Given the description of an element on the screen output the (x, y) to click on. 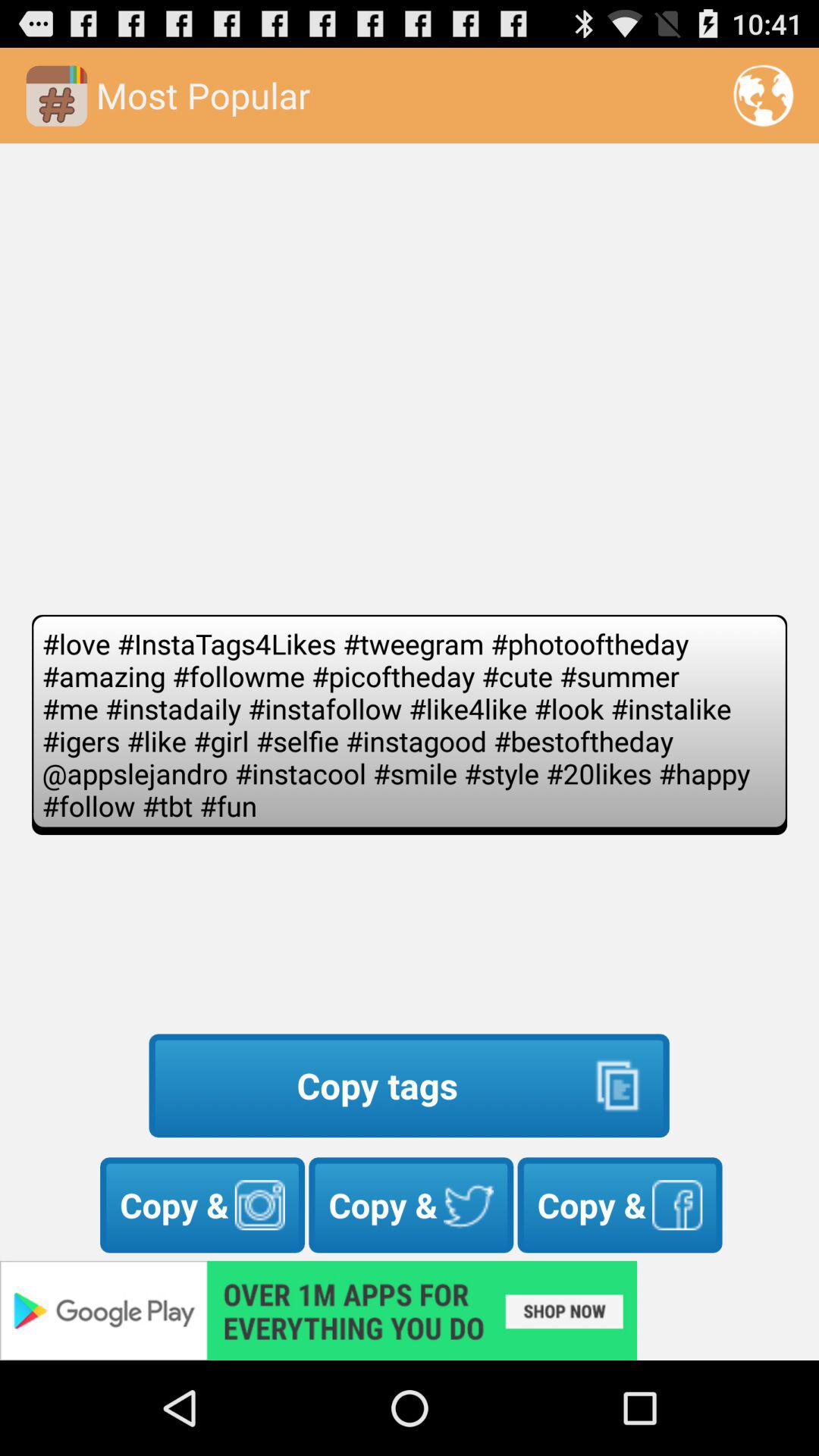
advertisement link (409, 1310)
